Given the description of an element on the screen output the (x, y) to click on. 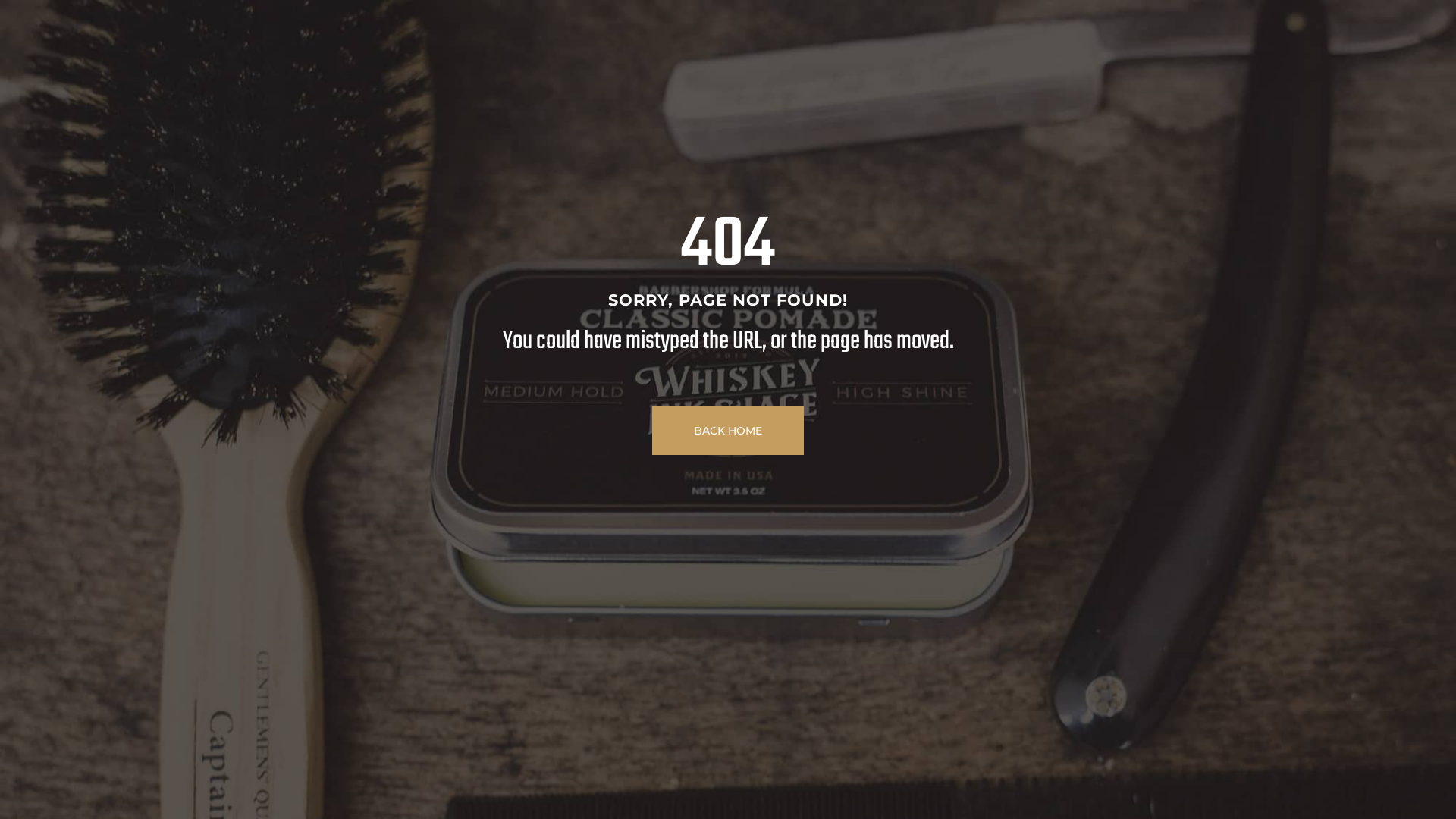
BACK HOME Element type: text (727, 430)
